Given the description of an element on the screen output the (x, y) to click on. 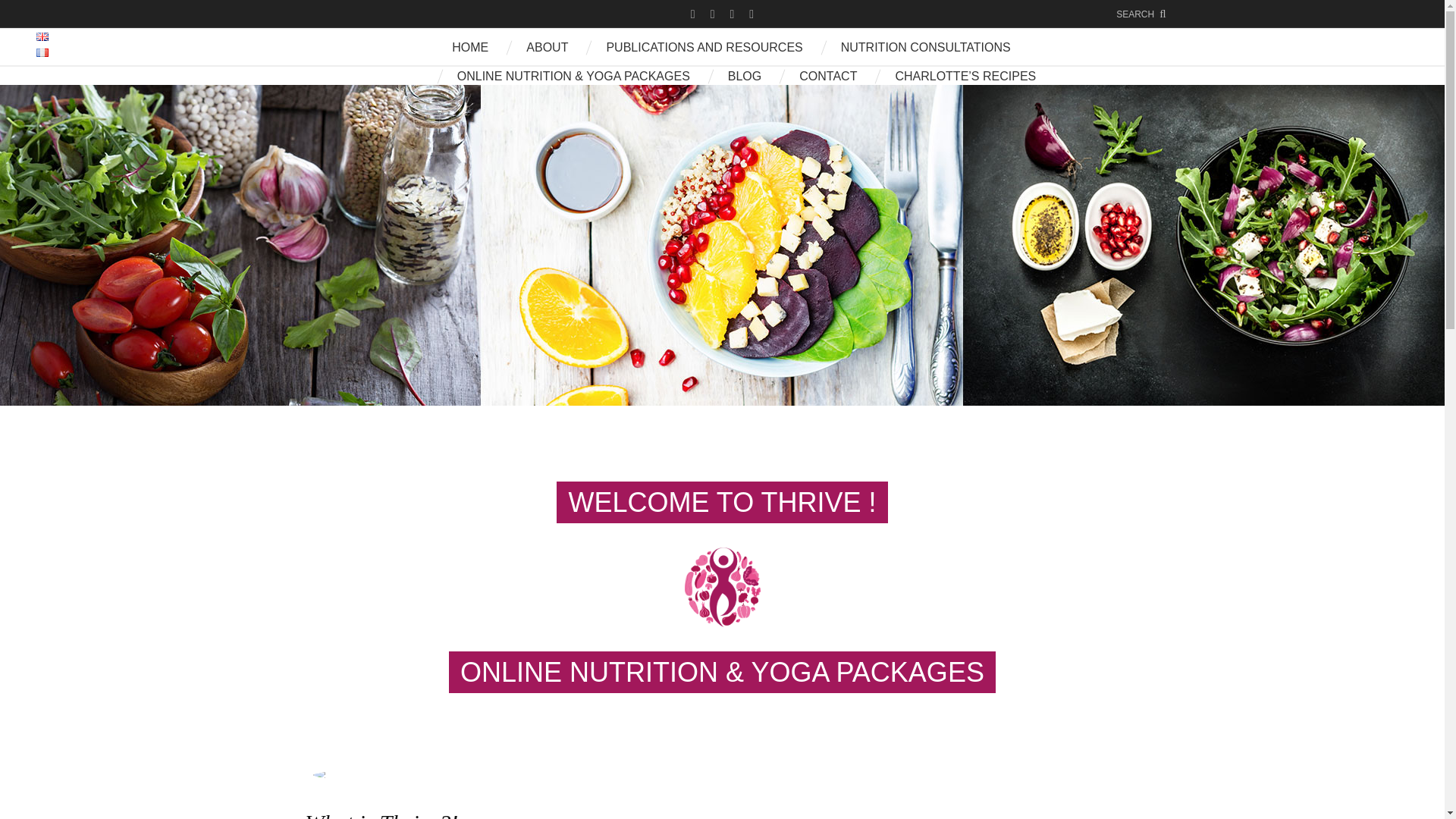
ABOUT (546, 49)
HOME (469, 49)
SEARCH (1141, 14)
CONTACT (828, 79)
BLOG (744, 79)
NUTRITION CONSULTATIONS (925, 49)
PUBLICATIONS AND RESOURCES (703, 49)
